Given the description of an element on the screen output the (x, y) to click on. 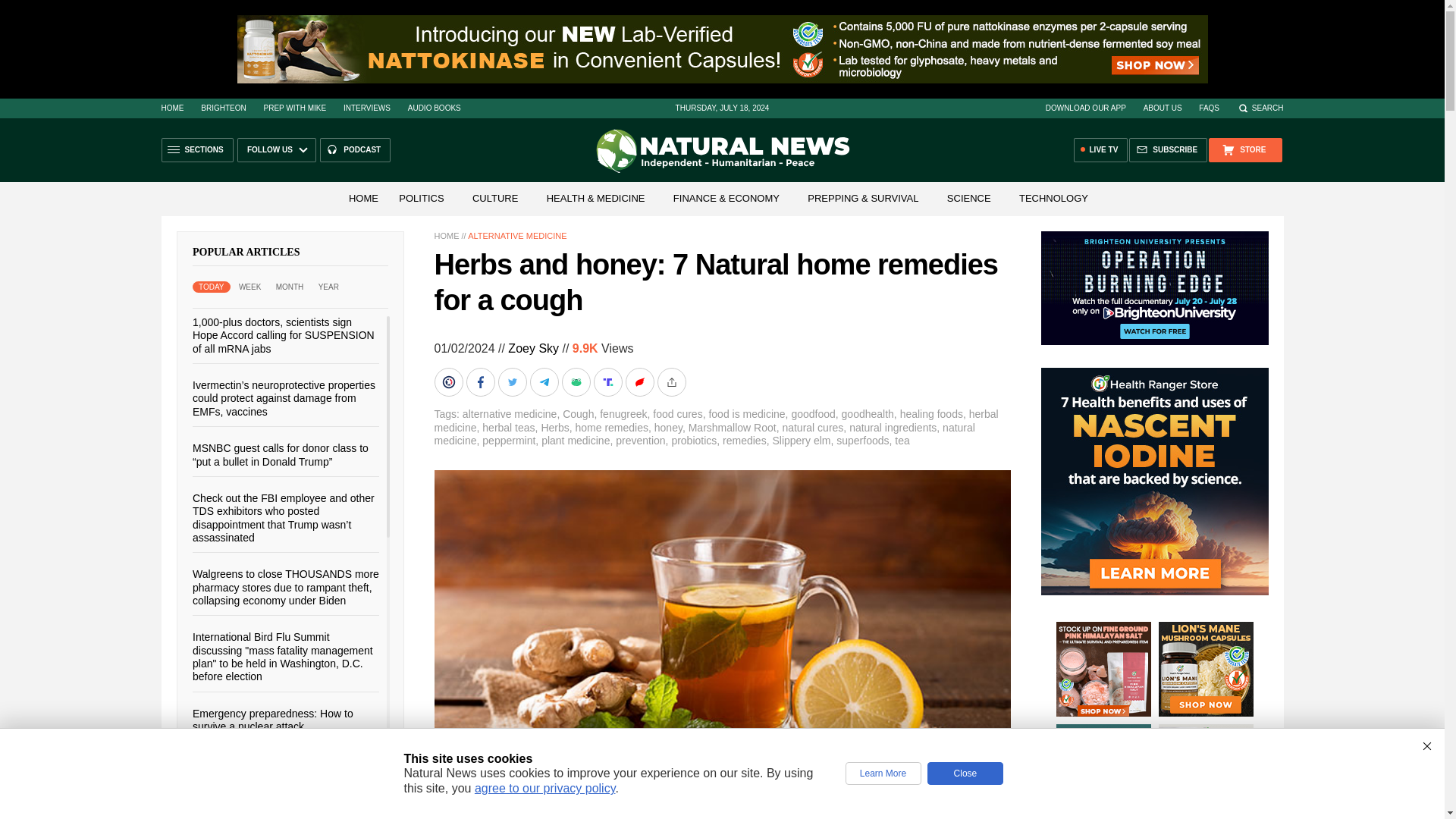
HOME (171, 108)
Share on Telegram (544, 381)
DOWNLOAD OUR APP (1085, 108)
Share on Twitter (513, 381)
INTERVIEWS (366, 108)
ABOUT US (1162, 108)
STORE (1244, 150)
LIVE TV (1101, 150)
PREP WITH MIKE (294, 108)
SUBSCRIBE (1168, 150)
AUDIO BOOKS (434, 108)
Search (1260, 108)
